Given the description of an element on the screen output the (x, y) to click on. 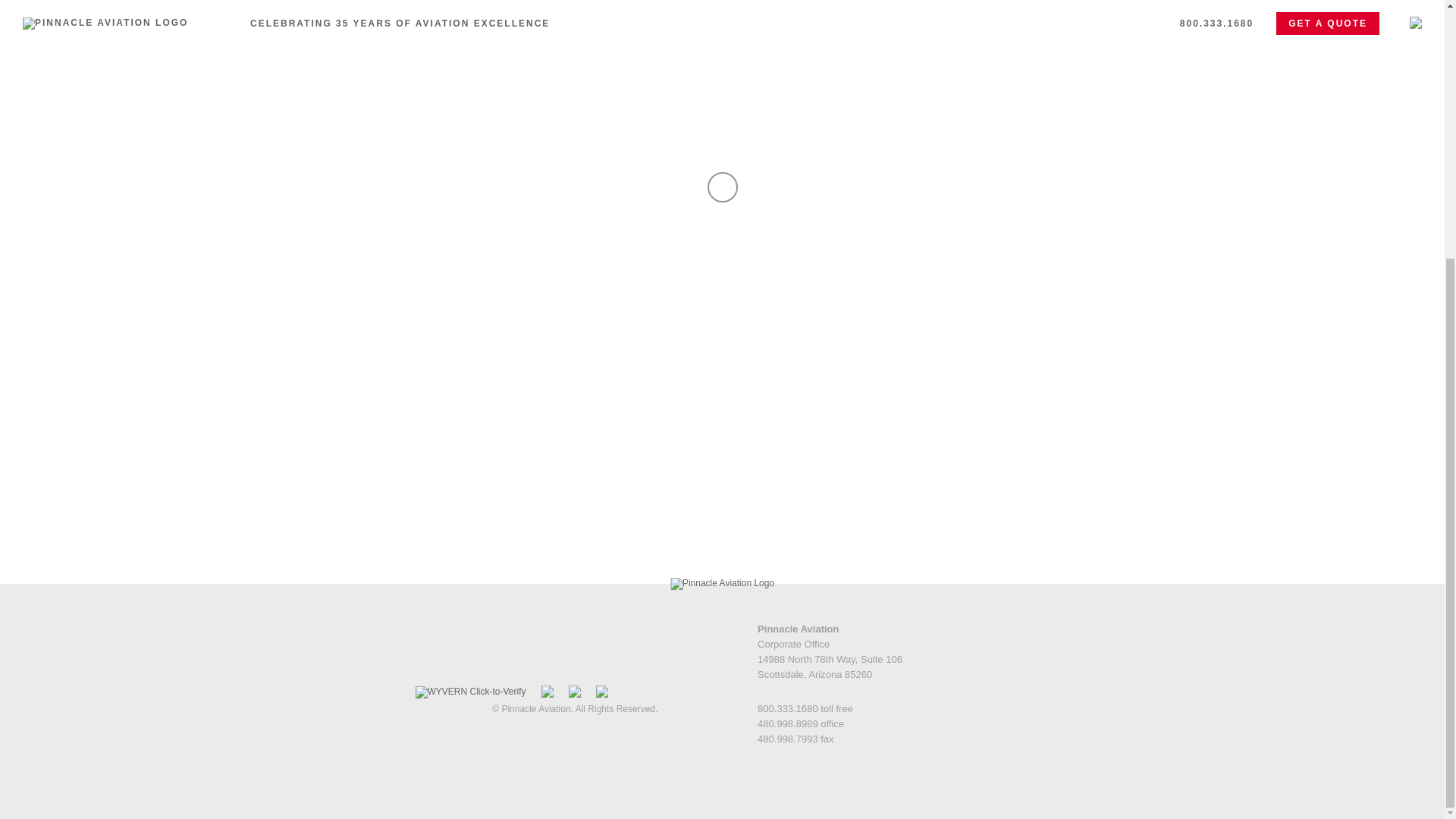
Pinnacle Aviation (721, 583)
480.998.8989 (787, 723)
800.333.1680 (787, 708)
